Given the description of an element on the screen output the (x, y) to click on. 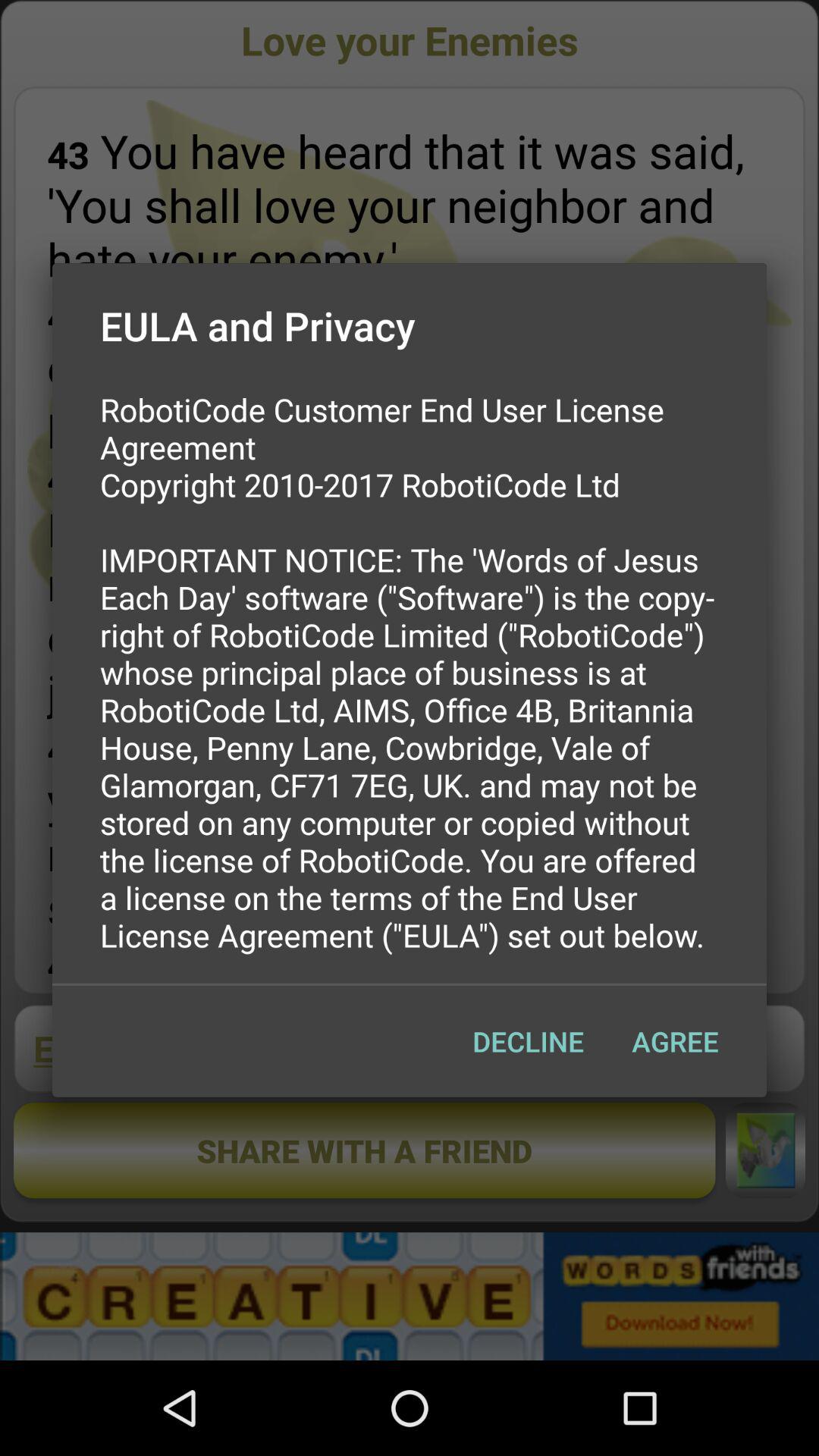
select icon below roboticode customer end icon (674, 1041)
